Given the description of an element on the screen output the (x, y) to click on. 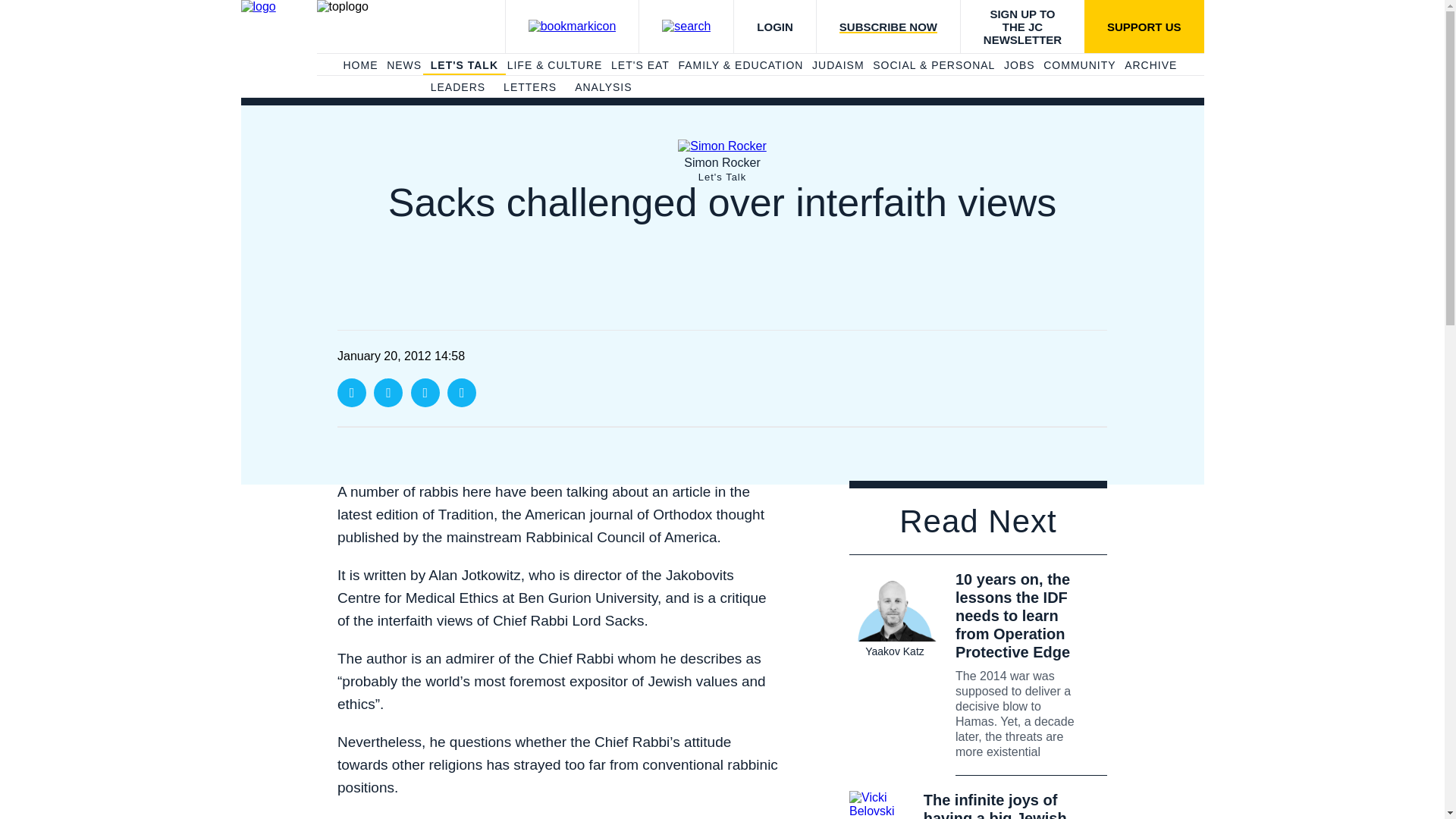
LET'S EAT (640, 65)
SIGN UP TO THE JC NEWSLETTER (1021, 26)
HOME (359, 65)
LOGIN (774, 26)
SUPPORT US (1144, 26)
SUBSCRIBE NOW (887, 26)
ANALYSIS (603, 87)
ARCHIVE (1150, 65)
LEADERS (457, 87)
JUDAISM (837, 65)
